Given the description of an element on the screen output the (x, y) to click on. 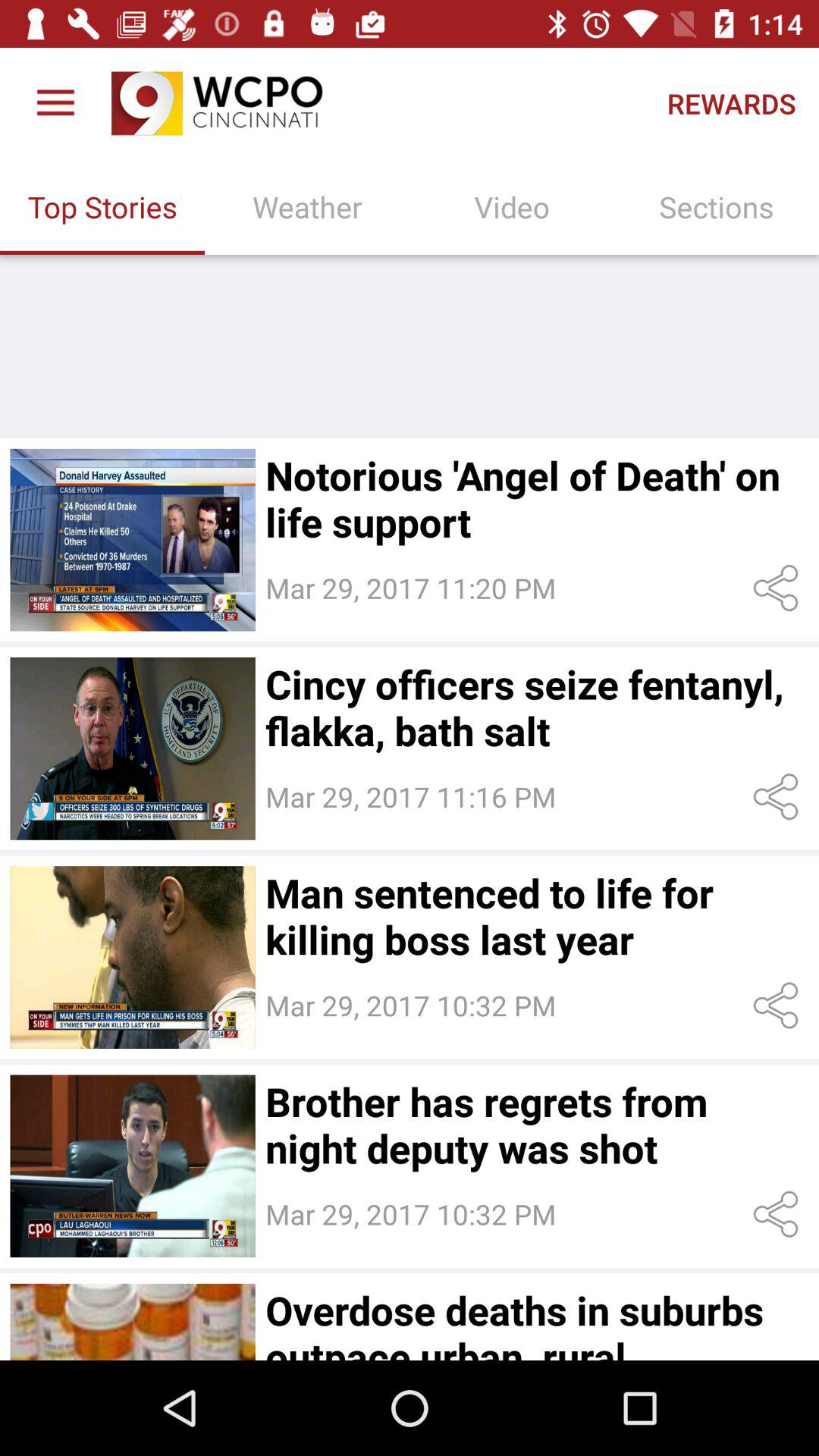
view the article (132, 1321)
